Given the description of an element on the screen output the (x, y) to click on. 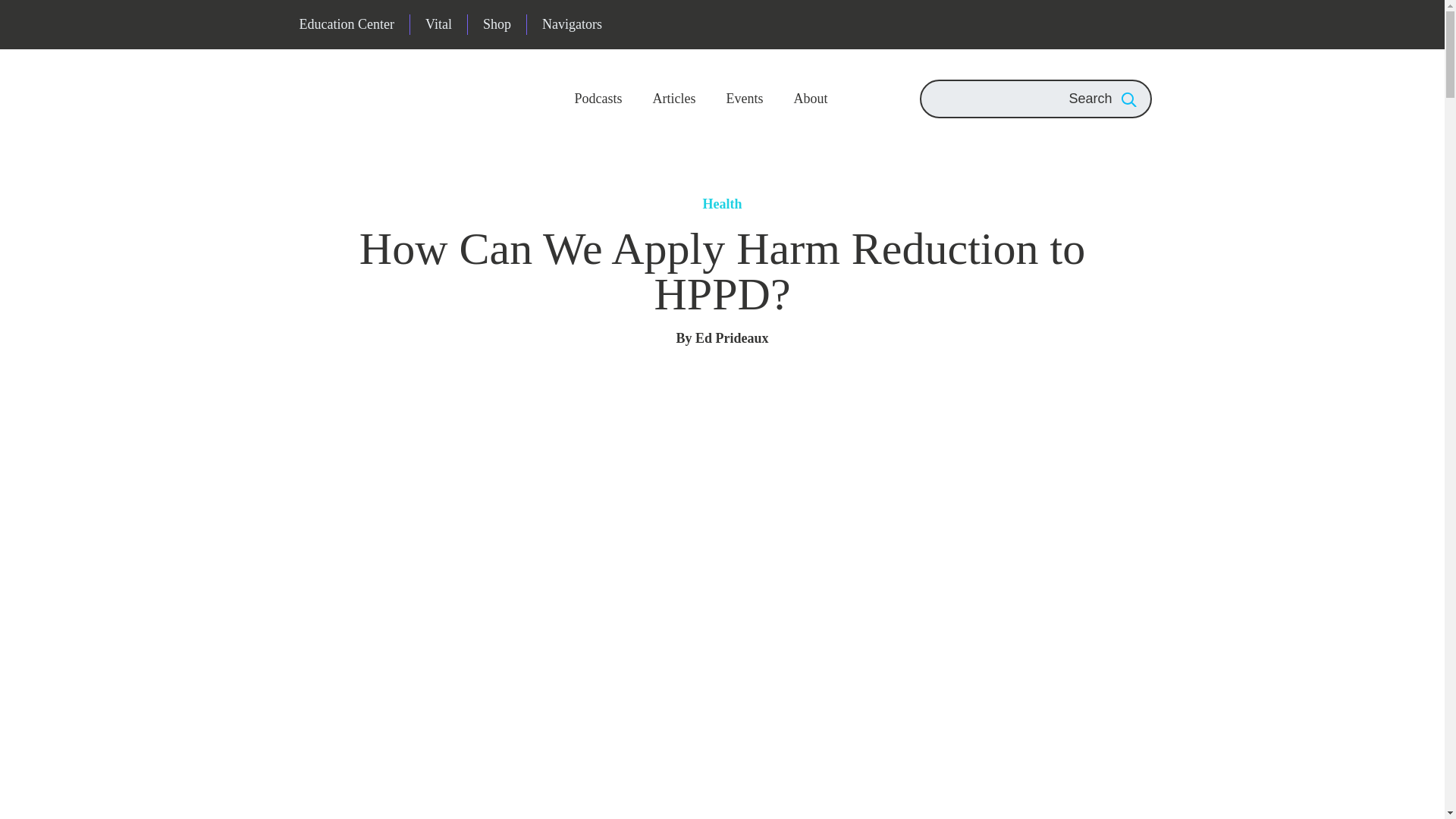
Education Center (346, 24)
Events (743, 98)
Navigators (572, 24)
Shop (496, 24)
Articles (673, 98)
About (809, 98)
Podcasts (598, 98)
Vital (438, 24)
